Given the description of an element on the screen output the (x, y) to click on. 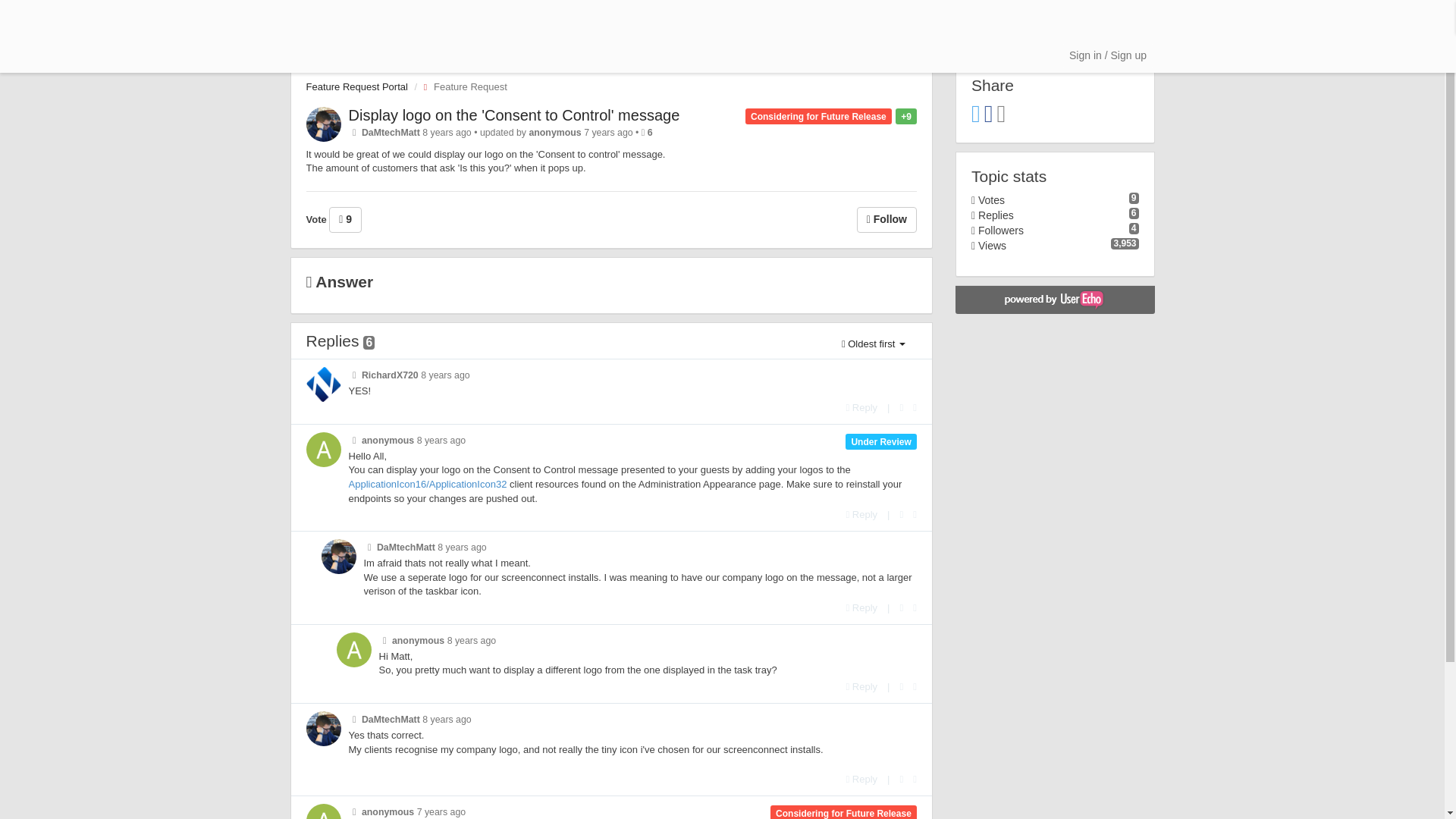
anonymous (387, 439)
RichardX720 (390, 375)
Feature Request Portal (356, 86)
Reply (861, 407)
9 (345, 219)
Oldest first (873, 344)
anonymous (554, 132)
8 years ago (440, 439)
DaMtechMatt (390, 132)
Display logo on the 'Consent to Control' message (514, 115)
